Given the description of an element on the screen output the (x, y) to click on. 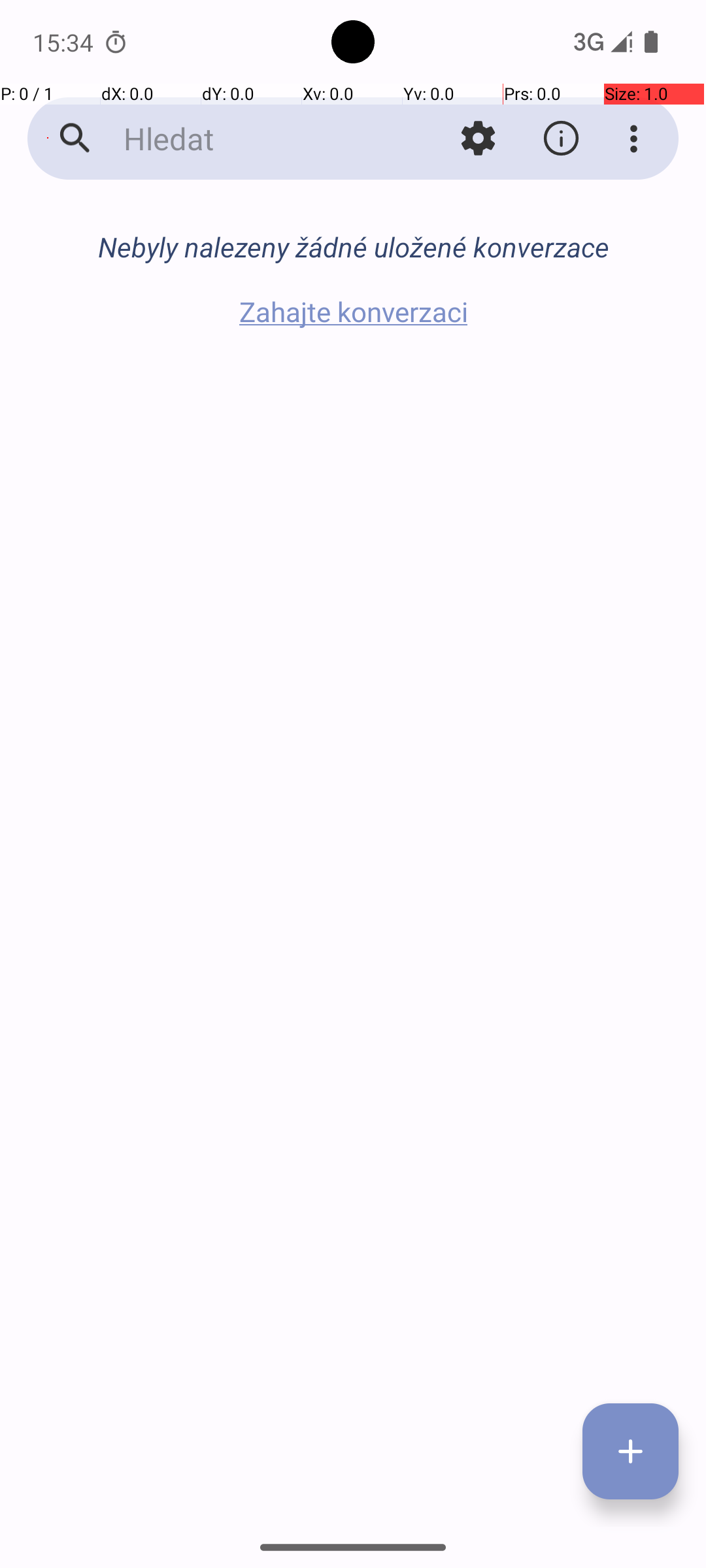
Nebyly nalezeny žádné uložené konverzace Element type: android.widget.TextView (353, 246)
Zahajte konverzaci Element type: android.widget.TextView (352, 311)
